Given the description of an element on the screen output the (x, y) to click on. 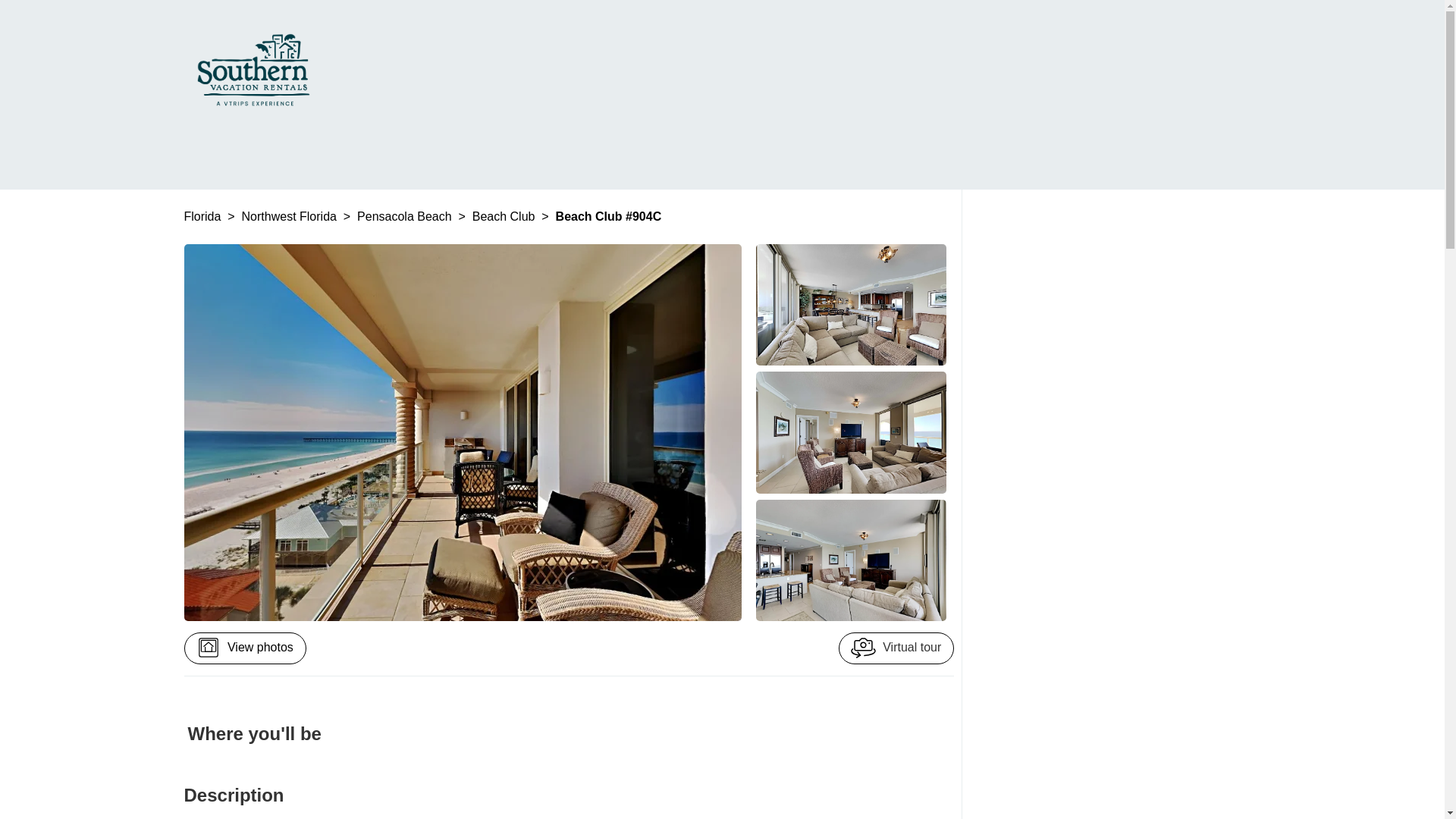
Florida (203, 215)
View photos (244, 648)
Beach Club (504, 215)
Living Room (850, 432)
Northwest Florida (290, 215)
Living Room (850, 304)
Virtual tour (896, 648)
Pensacola Beach (405, 215)
Living Area (850, 559)
